Given the description of an element on the screen output the (x, y) to click on. 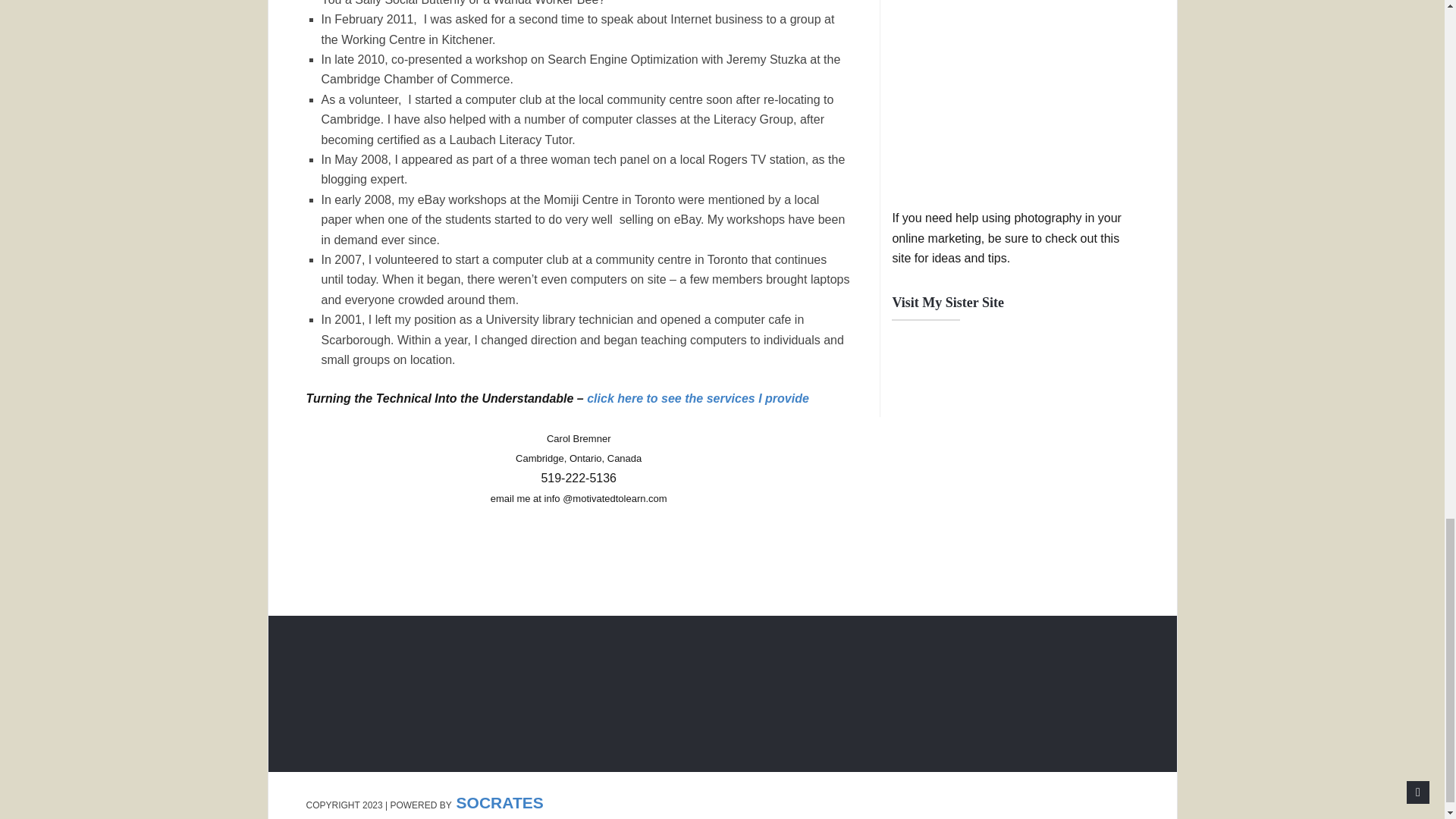
Training and Services (697, 398)
click here to see the services I provide (697, 398)
